Given the description of an element on the screen output the (x, y) to click on. 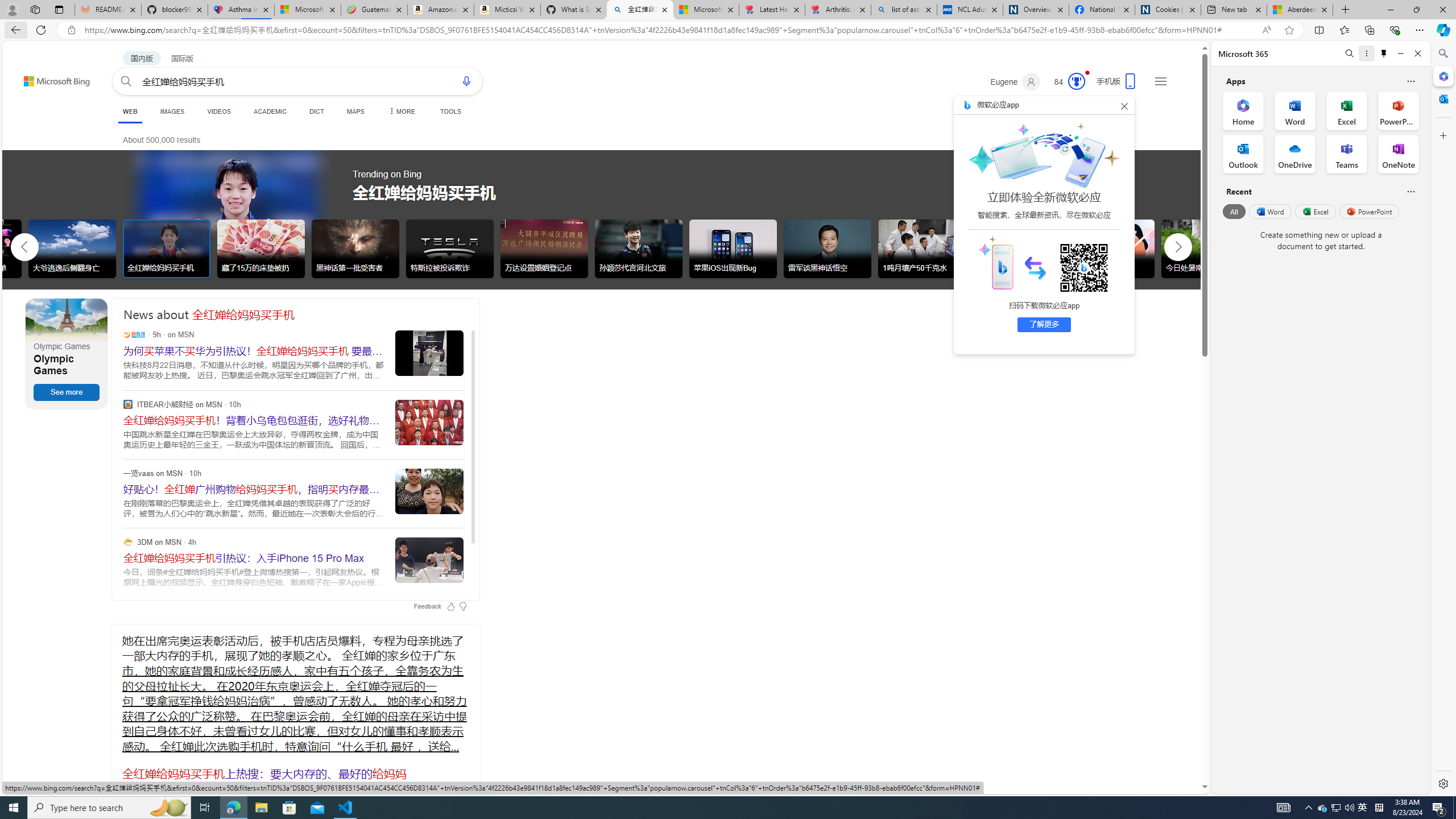
Excel (1315, 210)
IMAGES (172, 111)
WEB (129, 111)
TOOLS (450, 111)
